Given the description of an element on the screen output the (x, y) to click on. 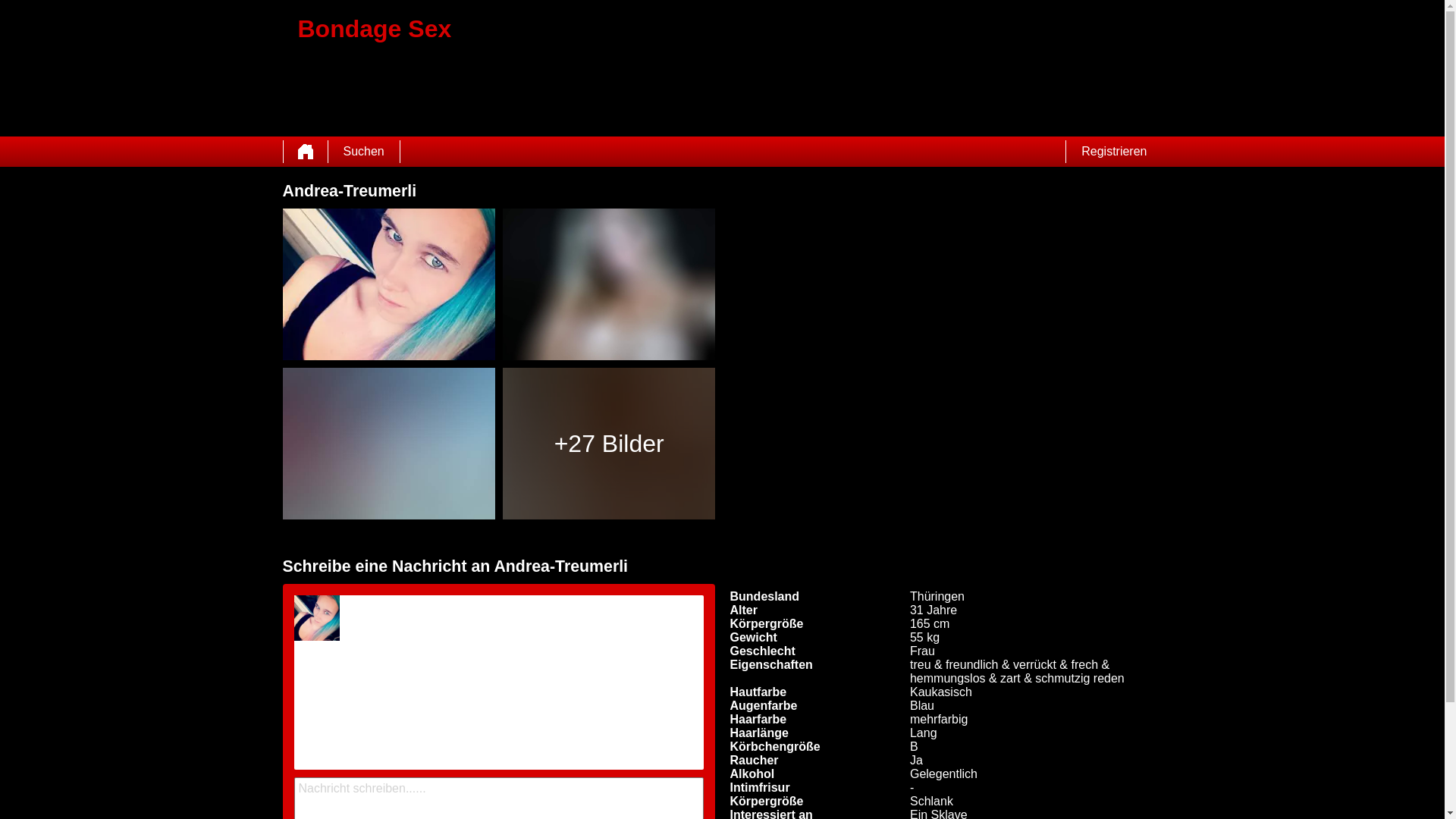
Andrea-Treumerli Element type: hover (388, 284)
Suchen Element type: text (362, 151)
+27 Bilder Element type: text (608, 443)
Bondage Sex Element type: text (721, 68)
Bondage Sex Element type: hover (305, 151)
Andrea-Treumerli Element type: hover (316, 617)
Registrieren Element type: text (1113, 151)
